Given the description of an element on the screen output the (x, y) to click on. 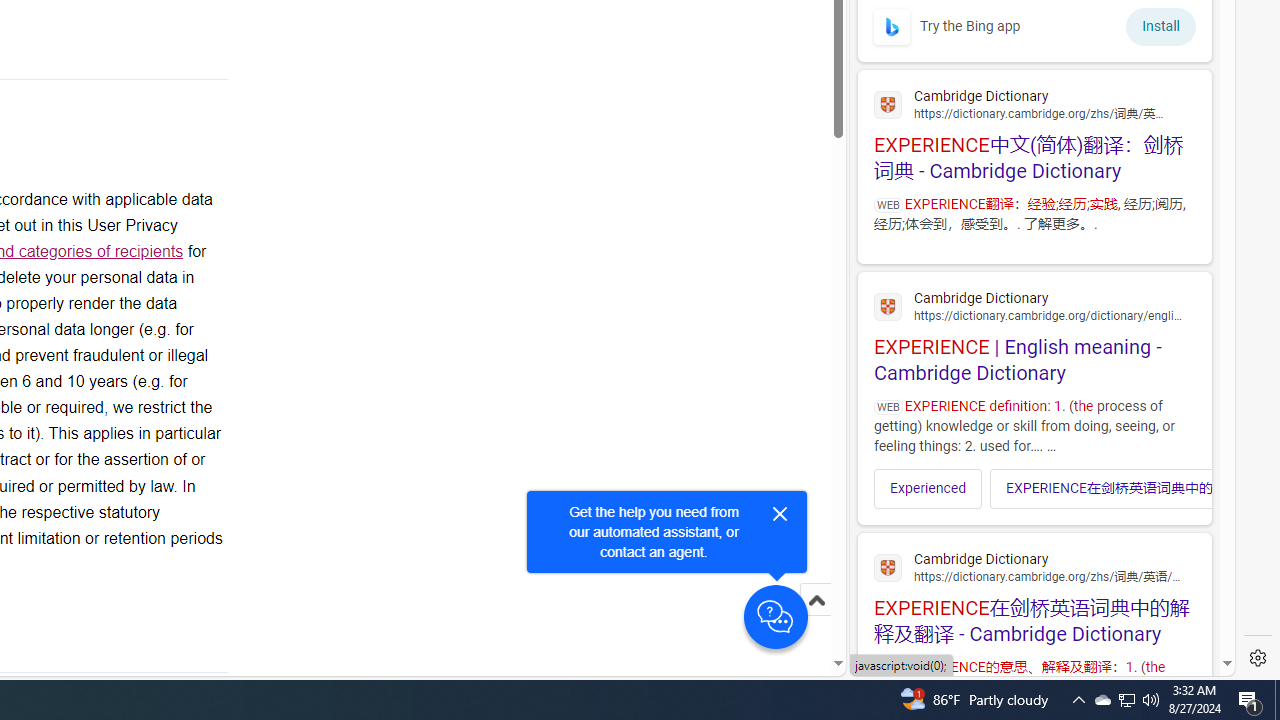
Scroll to top (816, 599)
Scroll to top (816, 620)
EXPERIENCE | English meaning - Cambridge Dictionary (1034, 334)
Cambridge Dictionary (1034, 565)
Click to scroll right (1183, 488)
